Given the description of an element on the screen output the (x, y) to click on. 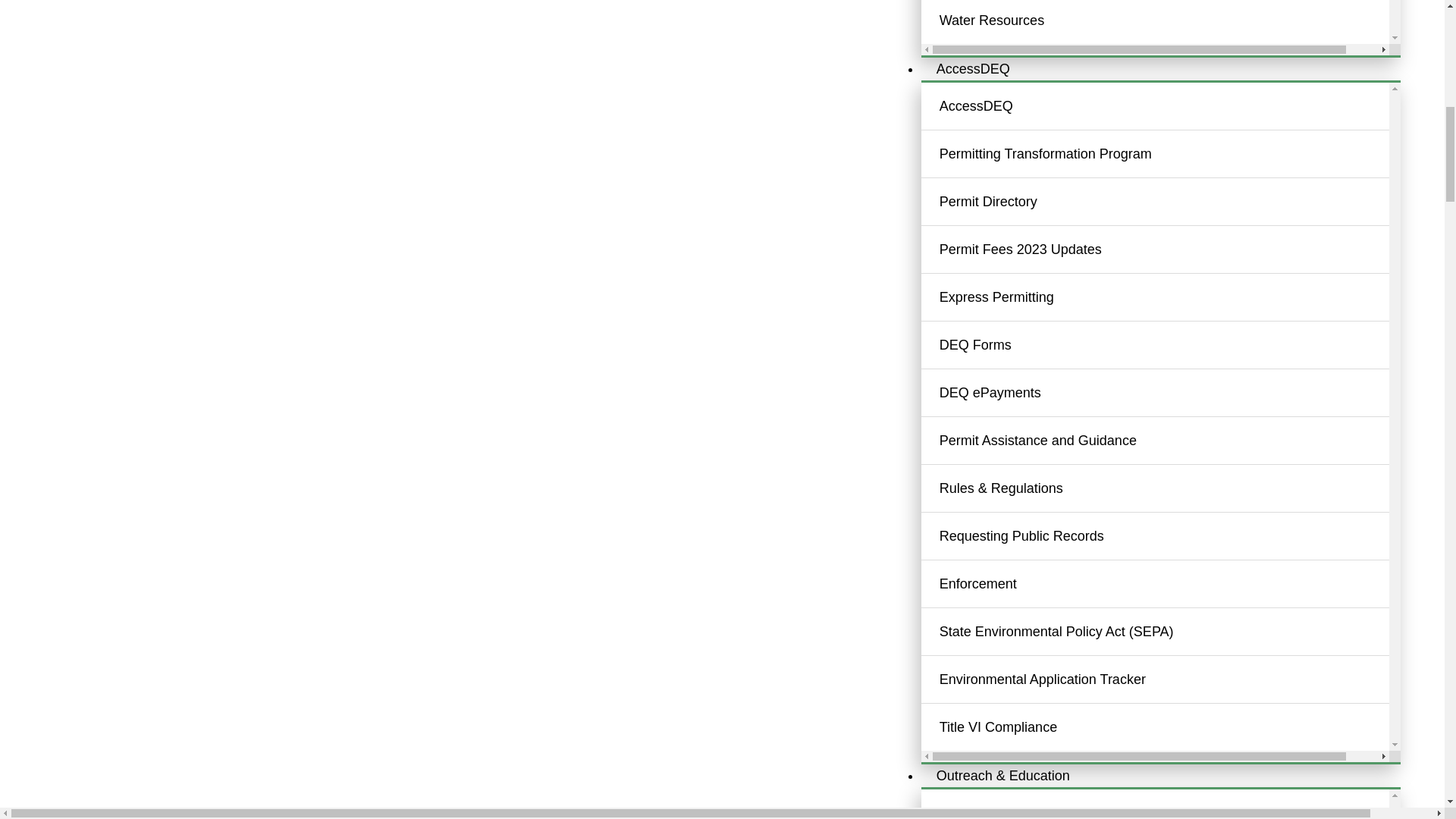
AccessDEQ (1173, 105)
Permit Assistance and Guidance (1173, 440)
Permit Directory (1173, 201)
Water Resources (1173, 20)
Enforcement (1173, 583)
Express Permitting (1173, 297)
Requesting Public Records (1173, 535)
DEQ Forms (1173, 344)
Permitting Transformation Program (1173, 153)
AccessDEQ (973, 68)
DEQ ePayments (1173, 392)
Permit Fees 2023 Updates (1173, 249)
Title VI Compliance (1173, 727)
Environmental Application Tracker (1173, 679)
